Given the description of an element on the screen output the (x, y) to click on. 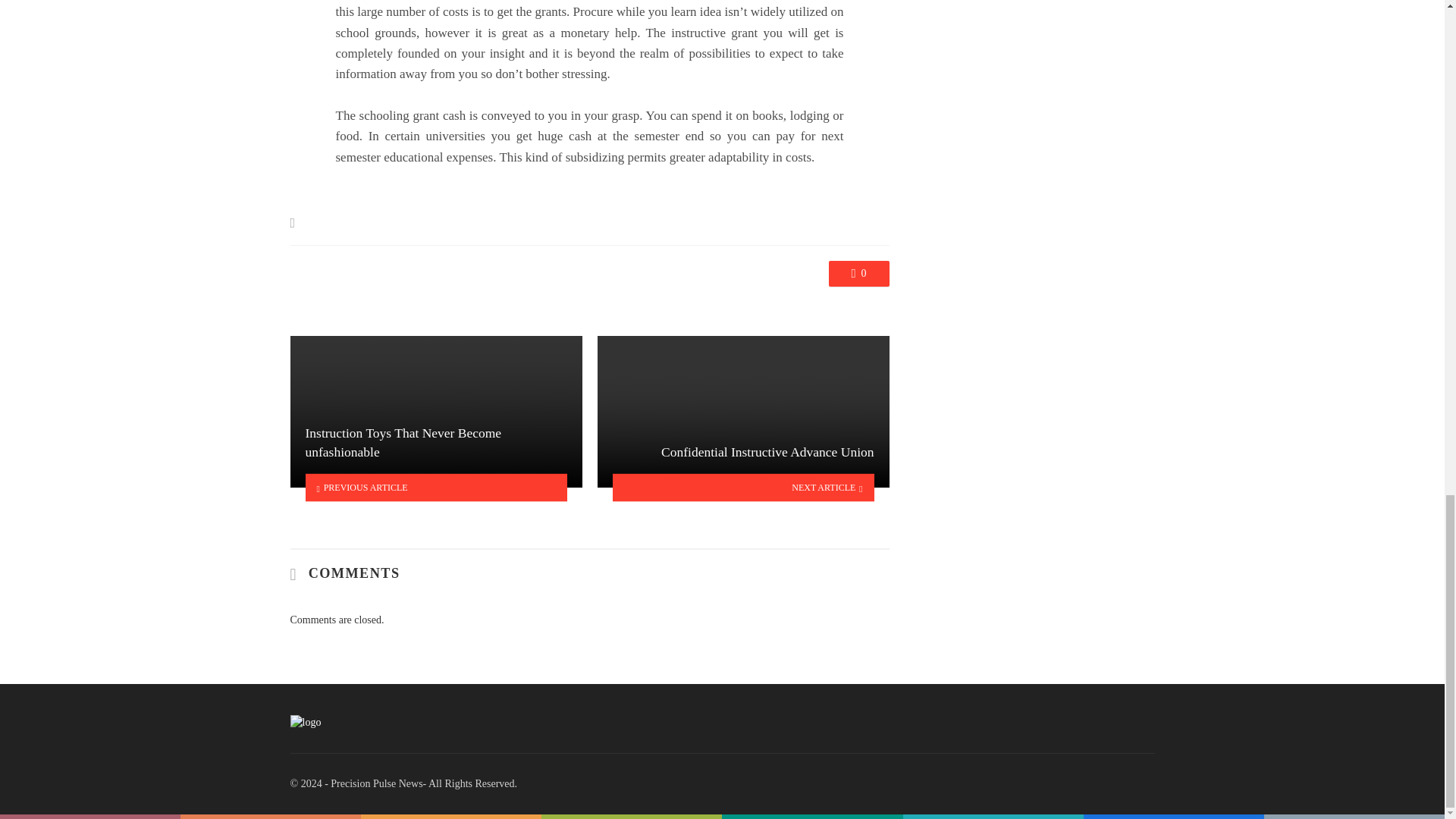
NEXT ARTICLE (742, 488)
0 (858, 273)
0 Comments (858, 273)
PREVIOUS ARTICLE (434, 488)
